Given the description of an element on the screen output the (x, y) to click on. 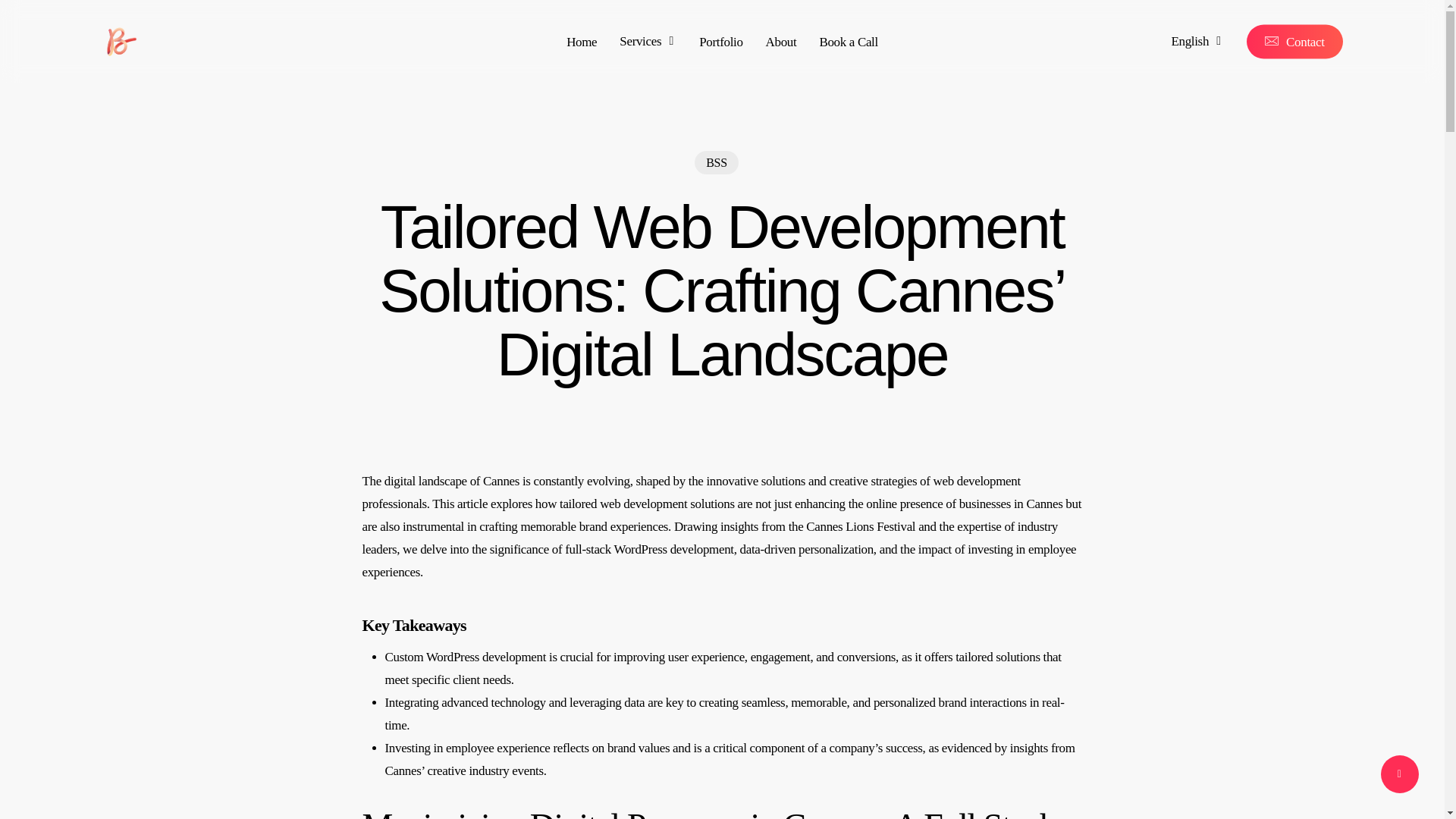
Services (648, 41)
About (780, 41)
Contact (1294, 41)
Home (581, 41)
BSS (716, 162)
Portfolio (720, 41)
English (1195, 41)
English (1195, 41)
Book a Call (847, 41)
